Given the description of an element on the screen output the (x, y) to click on. 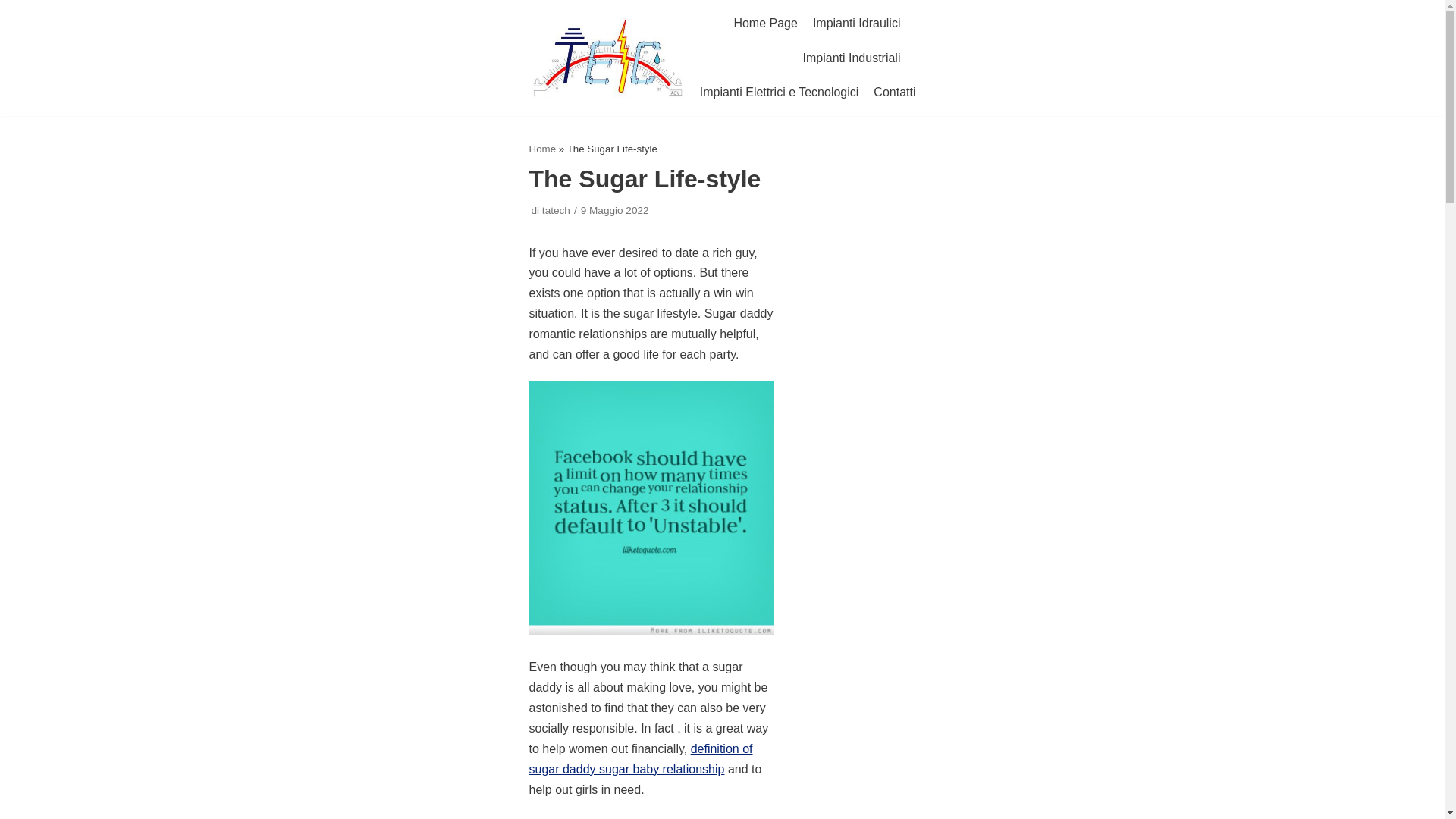
Vai al contenuto (15, 7)
Articoli di tatech (555, 210)
Impianti Elettrici e Tecnologici (779, 92)
Impianti Industriali (852, 57)
Home (542, 148)
definition of sugar daddy sugar baby relationship (640, 758)
Impianti Idraulici (856, 23)
Contatti (894, 92)
Teic Impianti (608, 57)
tatech (555, 210)
Home Page (765, 23)
